Given the description of an element on the screen output the (x, y) to click on. 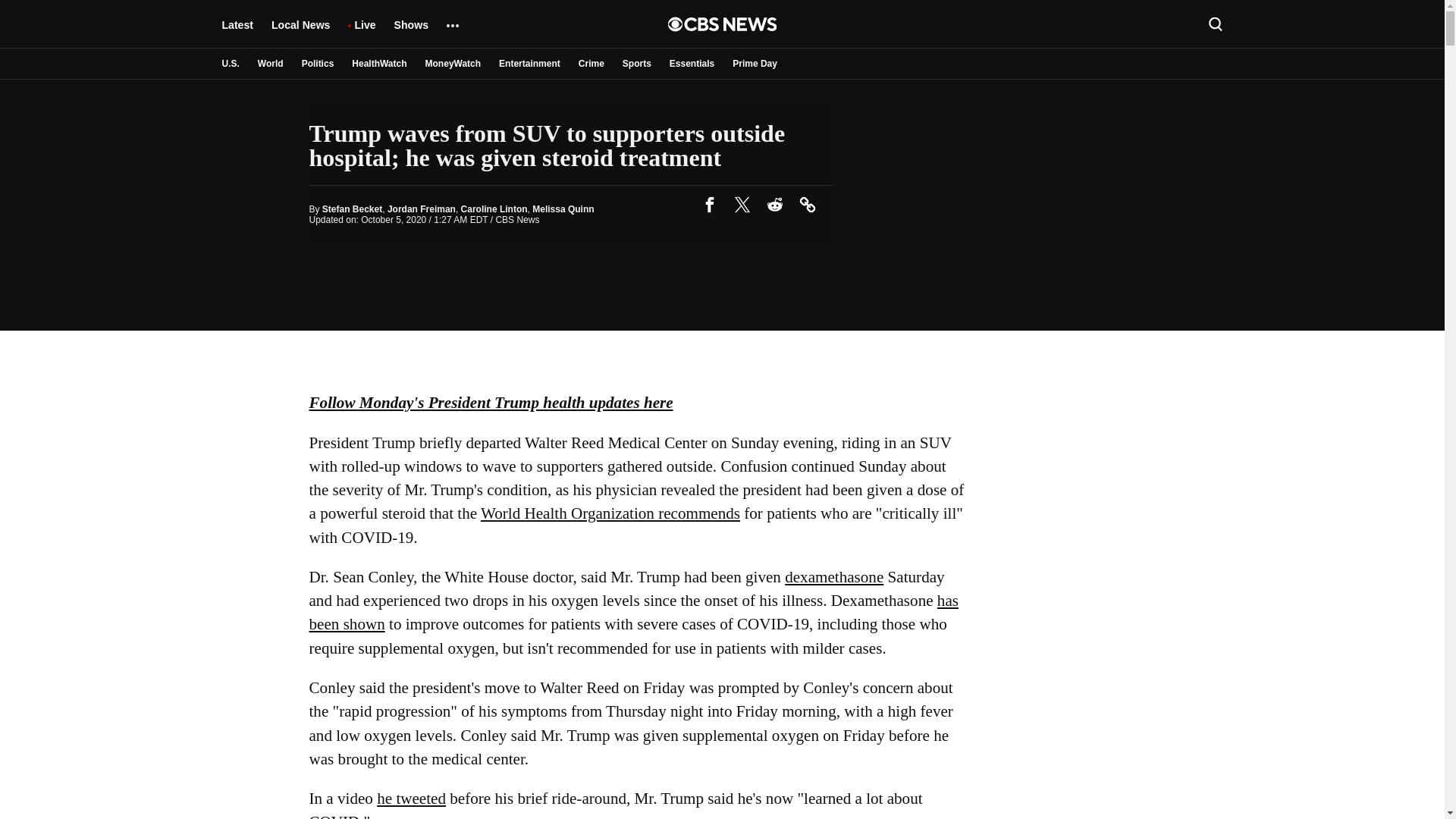
link (806, 204)
facebook (709, 204)
reddit (774, 204)
Local News (300, 31)
twitter (741, 204)
Latest (236, 31)
